Given the description of an element on the screen output the (x, y) to click on. 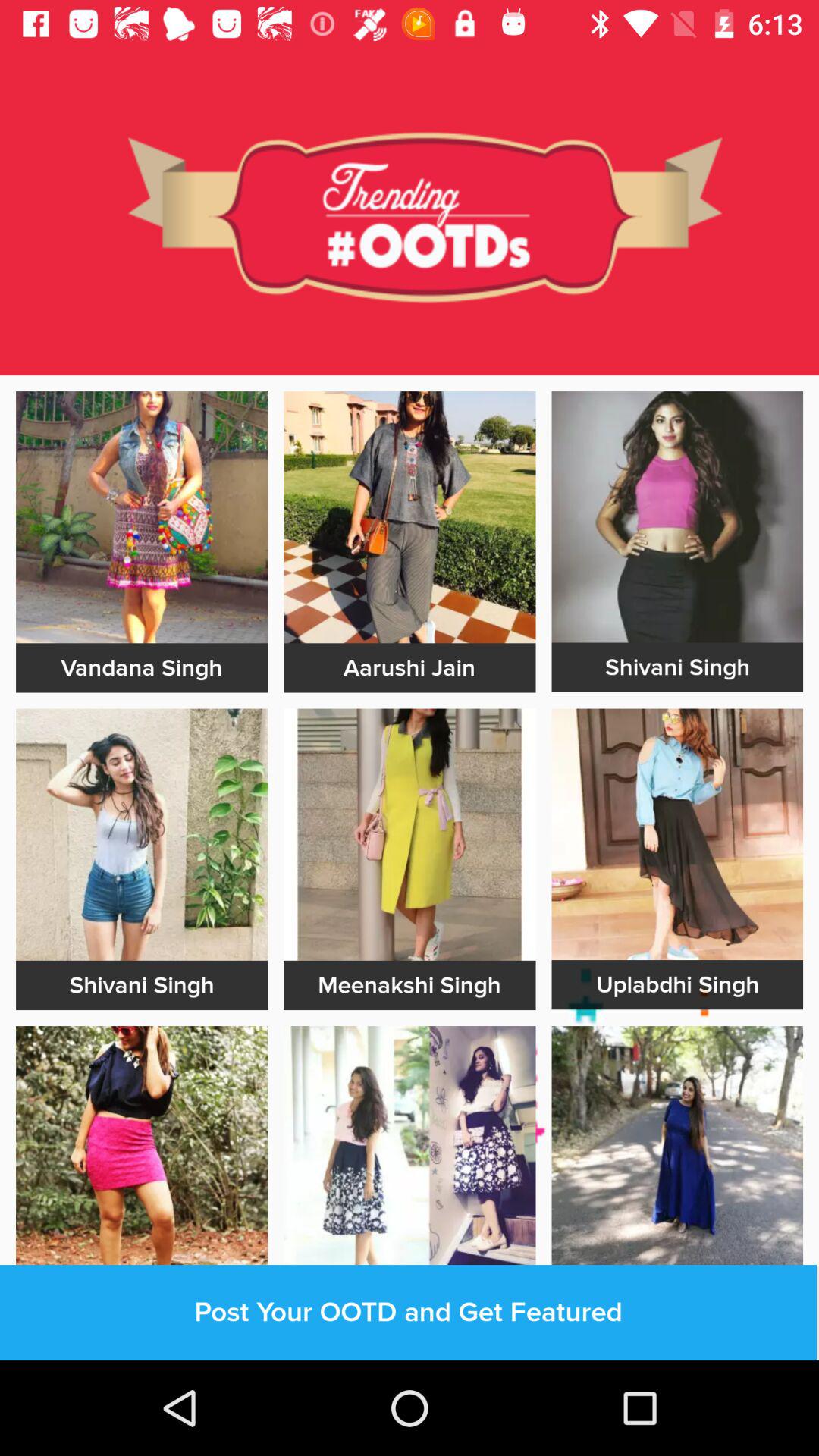
photo page (409, 517)
